Given the description of an element on the screen output the (x, y) to click on. 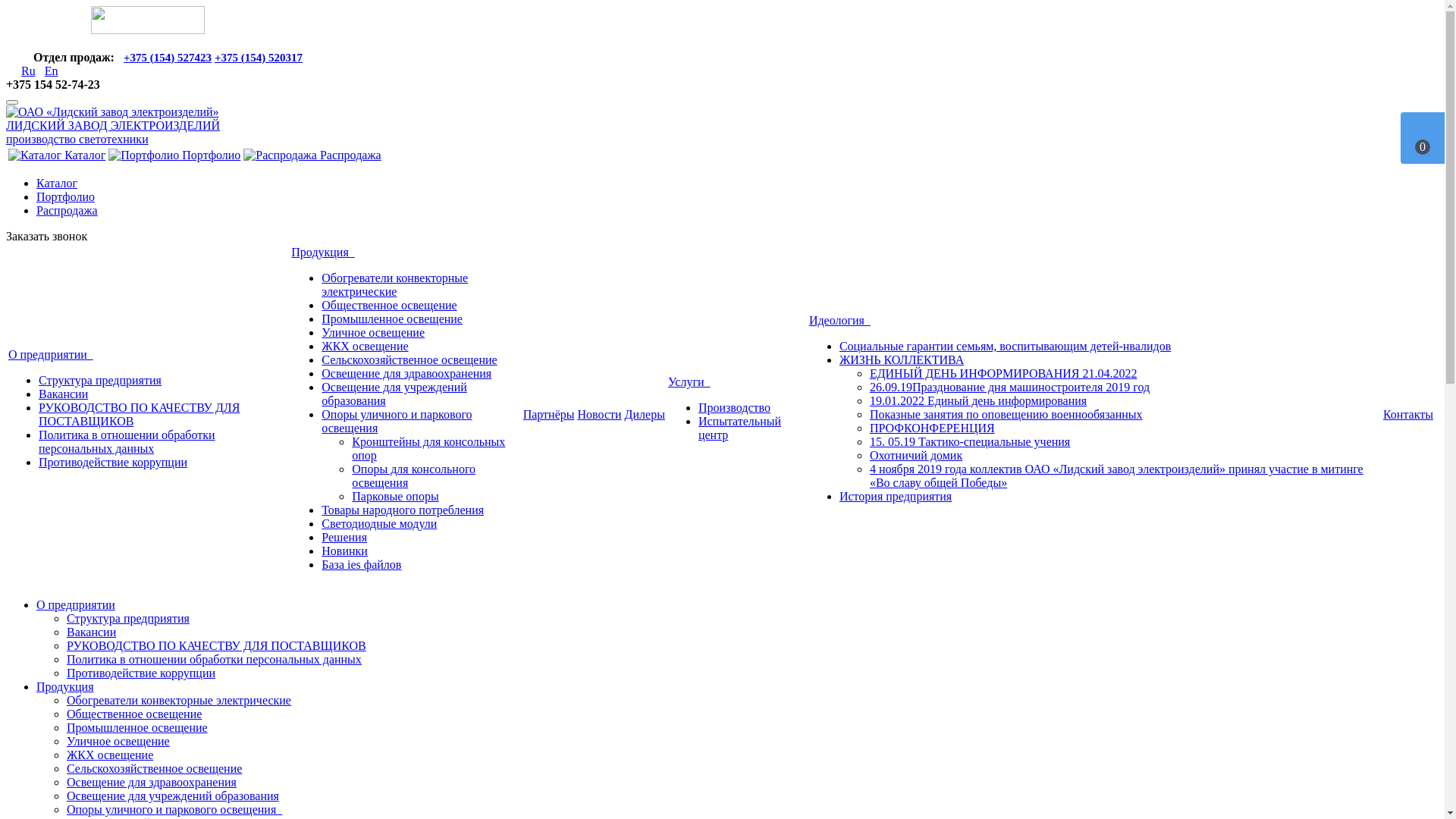
Ru Element type: text (28, 70)
+375 (154) 520317 Element type: text (258, 57)
En Element type: text (51, 70)
+375 (154) 527423 Element type: text (167, 57)
